Given the description of an element on the screen output the (x, y) to click on. 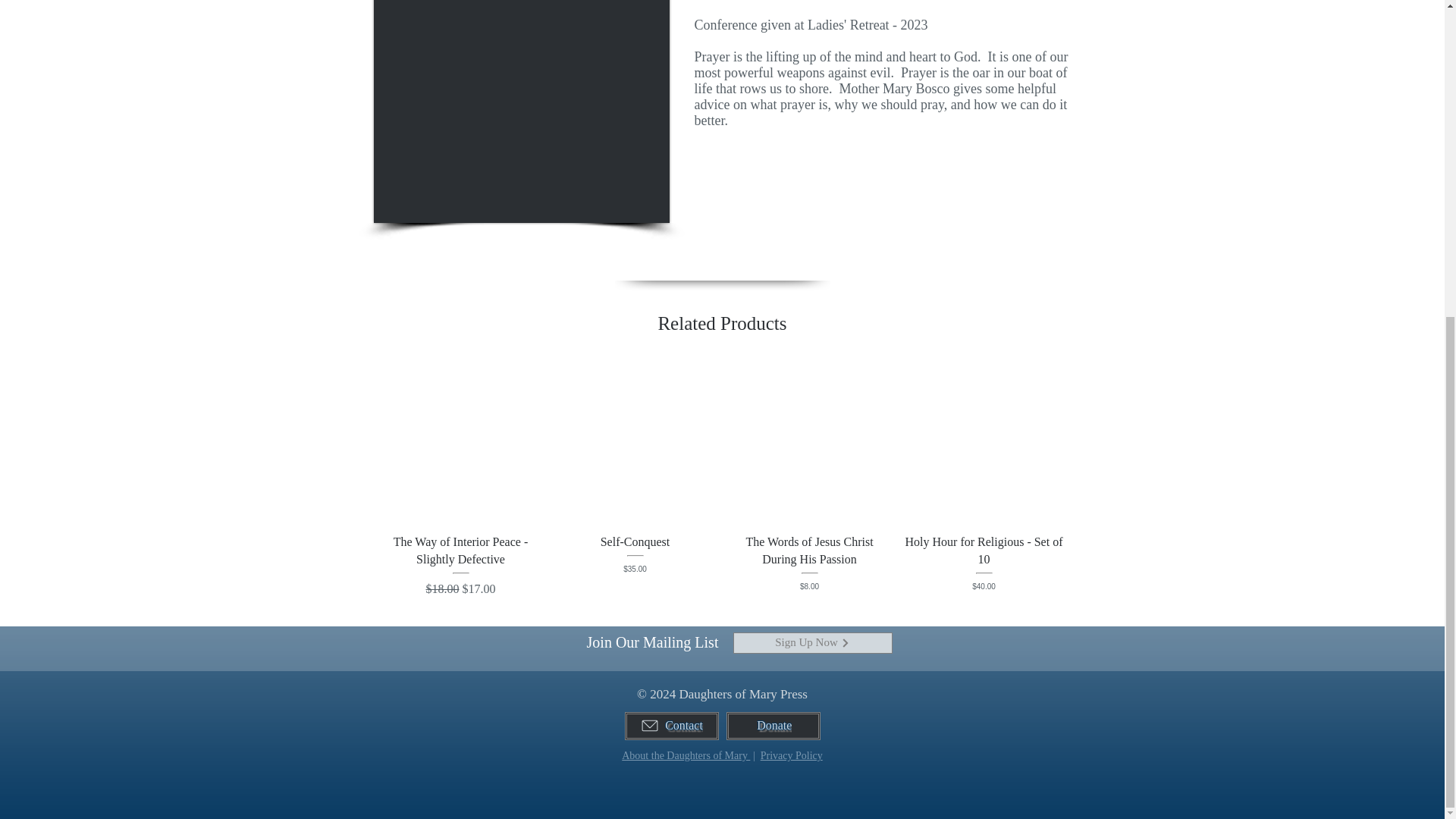
Power of Prayer - Ladies' Retreat (520, 111)
